Given the description of an element on the screen output the (x, y) to click on. 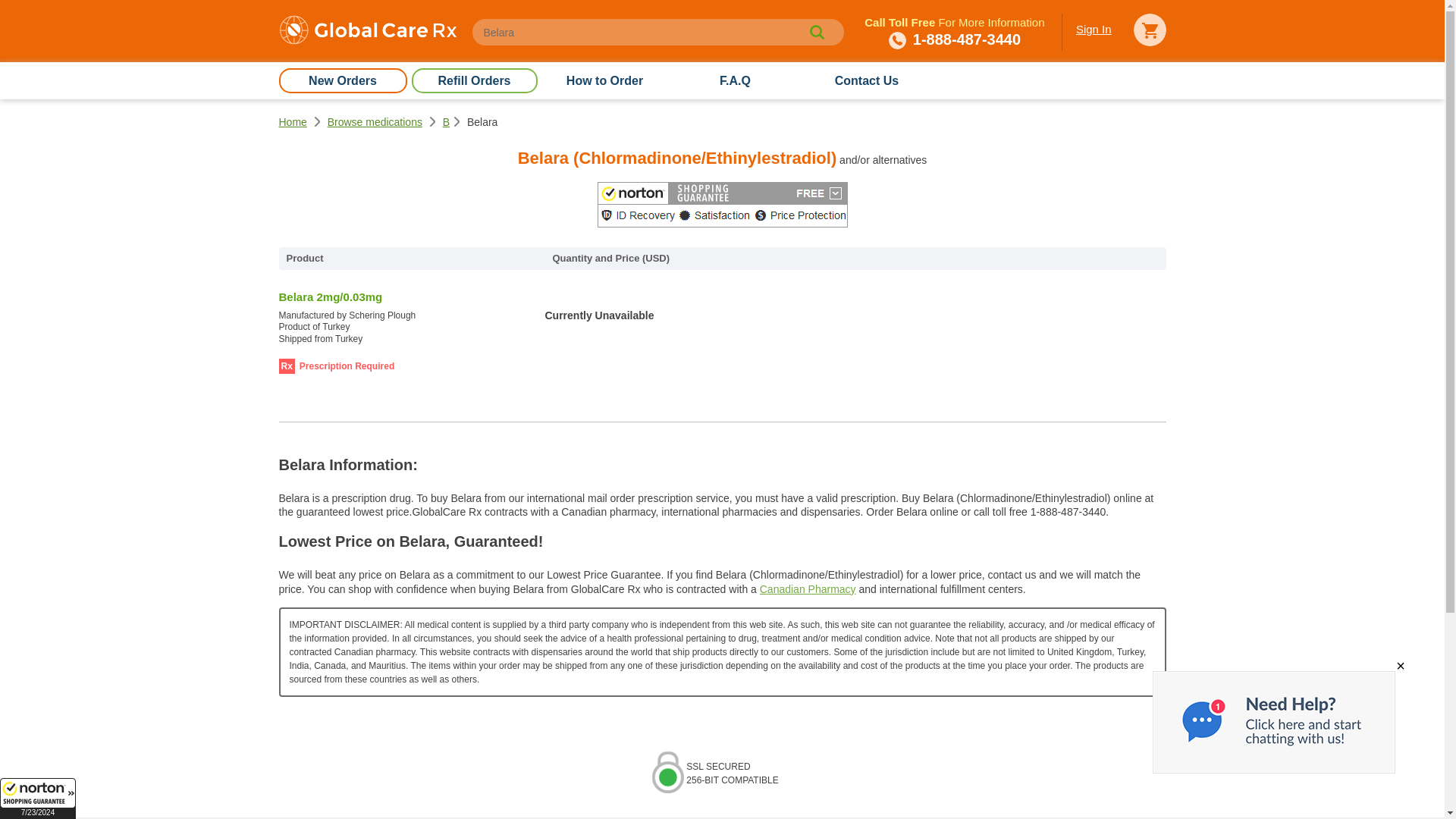
Home (293, 121)
Browse medications (374, 121)
Browse medications (374, 121)
Home (293, 121)
New Orders (343, 80)
F.A.Q (734, 80)
Contact Us (866, 80)
How To Order (603, 80)
Canadian pharmacy online (368, 32)
Canadian Pharmacy (808, 589)
How to Order (603, 80)
Refill Orders (473, 80)
Unused iFrame 1 (37, 798)
Search (816, 31)
Contact Us (866, 80)
